Given the description of an element on the screen output the (x, y) to click on. 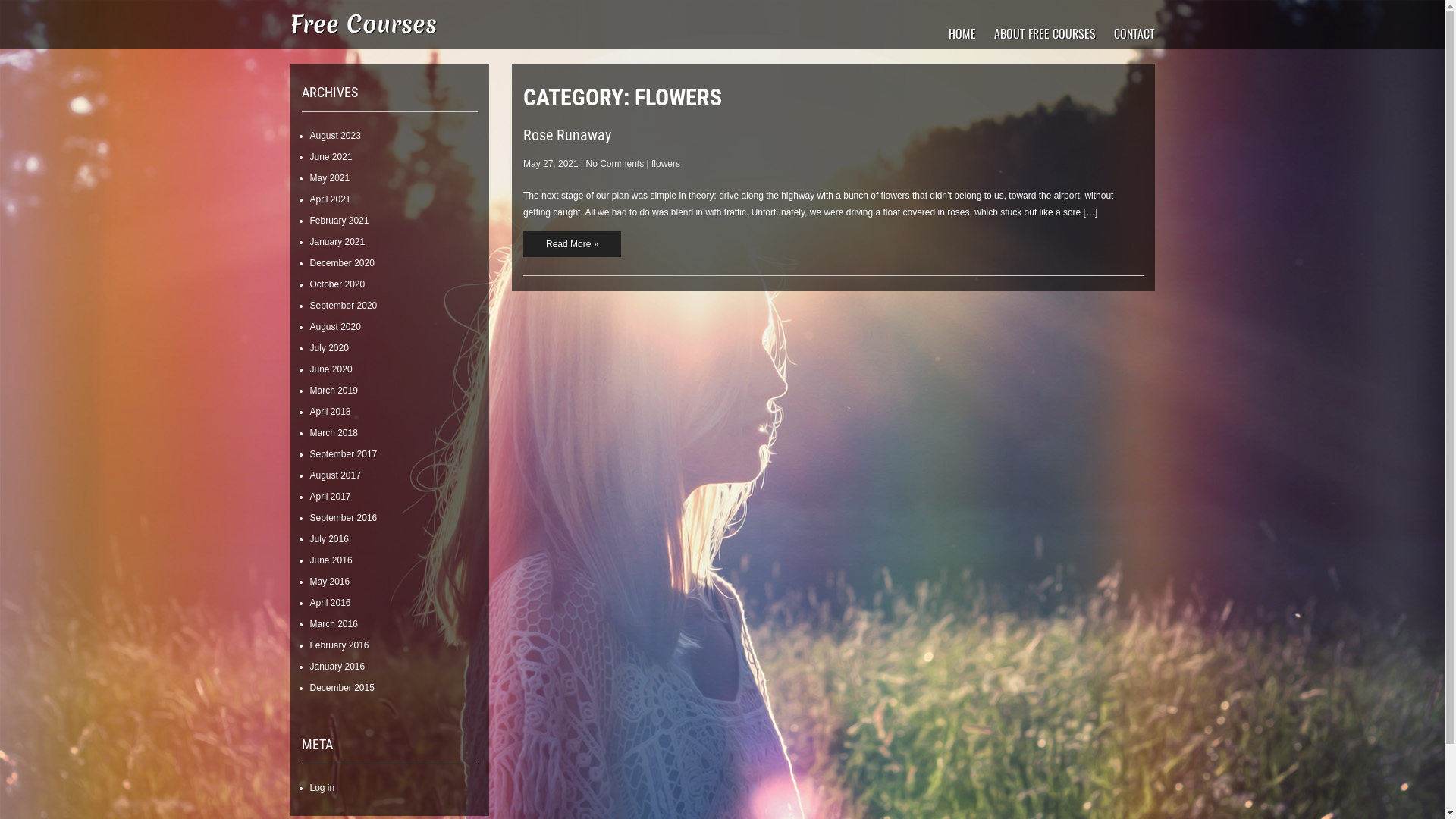
flowers Element type: text (665, 163)
May 2021 Element type: text (329, 177)
August 2023 Element type: text (334, 135)
February 2021 Element type: text (338, 220)
September 2020 Element type: text (342, 305)
January 2021 Element type: text (336, 241)
June 2021 Element type: text (330, 156)
August 2017 Element type: text (334, 475)
September 2016 Element type: text (342, 517)
March 2018 Element type: text (333, 432)
February 2016 Element type: text (338, 645)
CONTACT Element type: text (1133, 33)
July 2016 Element type: text (328, 538)
October 2020 Element type: text (336, 284)
Log in Element type: text (321, 787)
August 2020 Element type: text (334, 326)
Rose Runaway Element type: text (567, 134)
January 2016 Element type: text (336, 666)
Free Courses Element type: text (362, 23)
May 2016 Element type: text (329, 581)
June 2016 Element type: text (330, 560)
April 2018 Element type: text (329, 411)
April 2021 Element type: text (329, 199)
HOME Element type: text (961, 33)
ABOUT FREE COURSES Element type: text (1044, 33)
March 2019 Element type: text (333, 390)
September 2017 Element type: text (342, 453)
No Comments Element type: text (615, 163)
December 2020 Element type: text (341, 262)
April 2017 Element type: text (329, 496)
July 2020 Element type: text (328, 347)
April 2016 Element type: text (329, 602)
March 2016 Element type: text (333, 623)
June 2020 Element type: text (330, 369)
December 2015 Element type: text (341, 687)
